Given the description of an element on the screen output the (x, y) to click on. 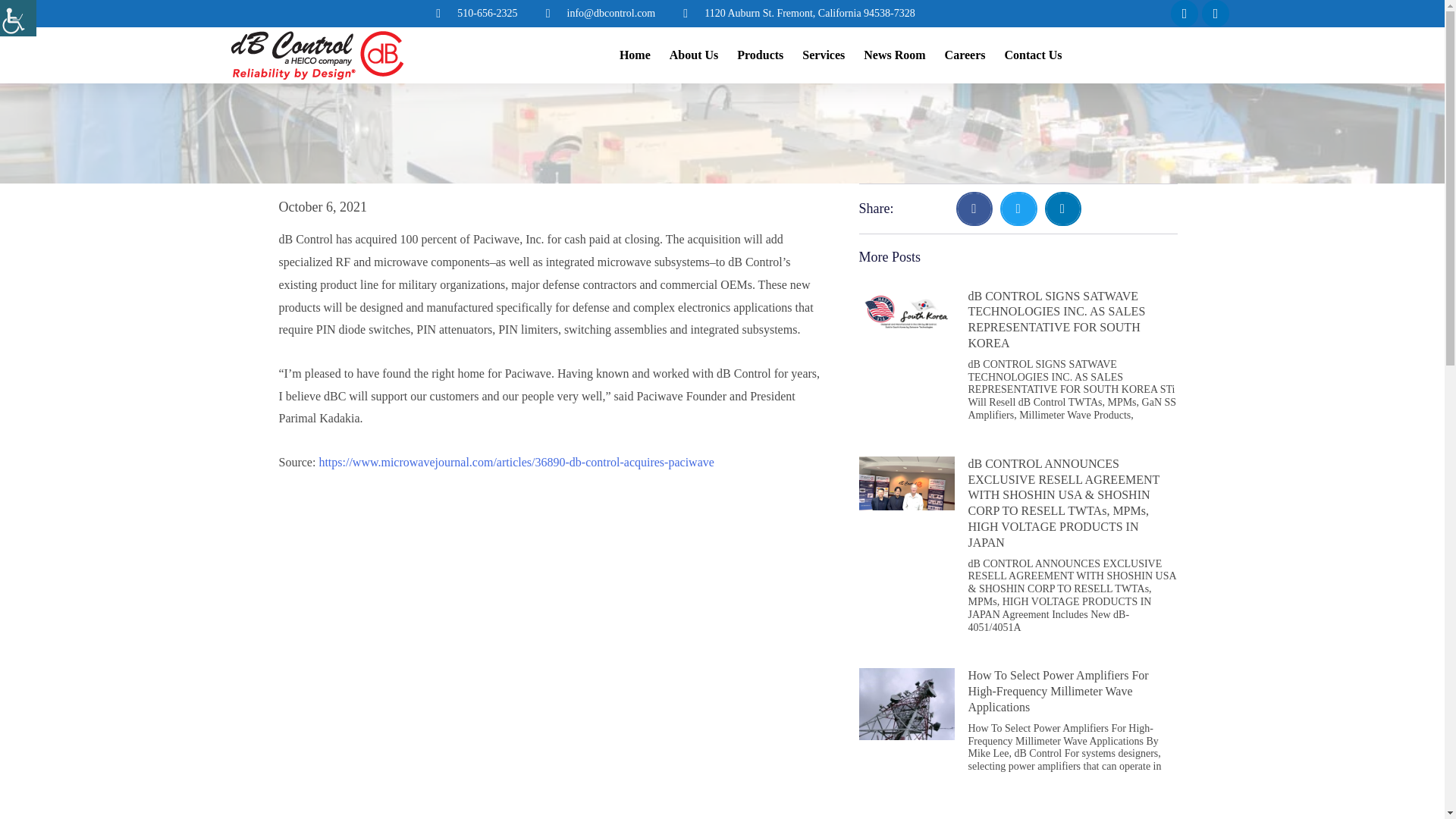
Contact Us (1033, 54)
About Us (693, 54)
Services (823, 54)
Home (635, 54)
News Room (893, 54)
Twitter (1184, 13)
Linkedin (1215, 13)
Accessibility Helper sidebar (18, 18)
Products (759, 54)
Careers (964, 54)
